Given the description of an element on the screen output the (x, y) to click on. 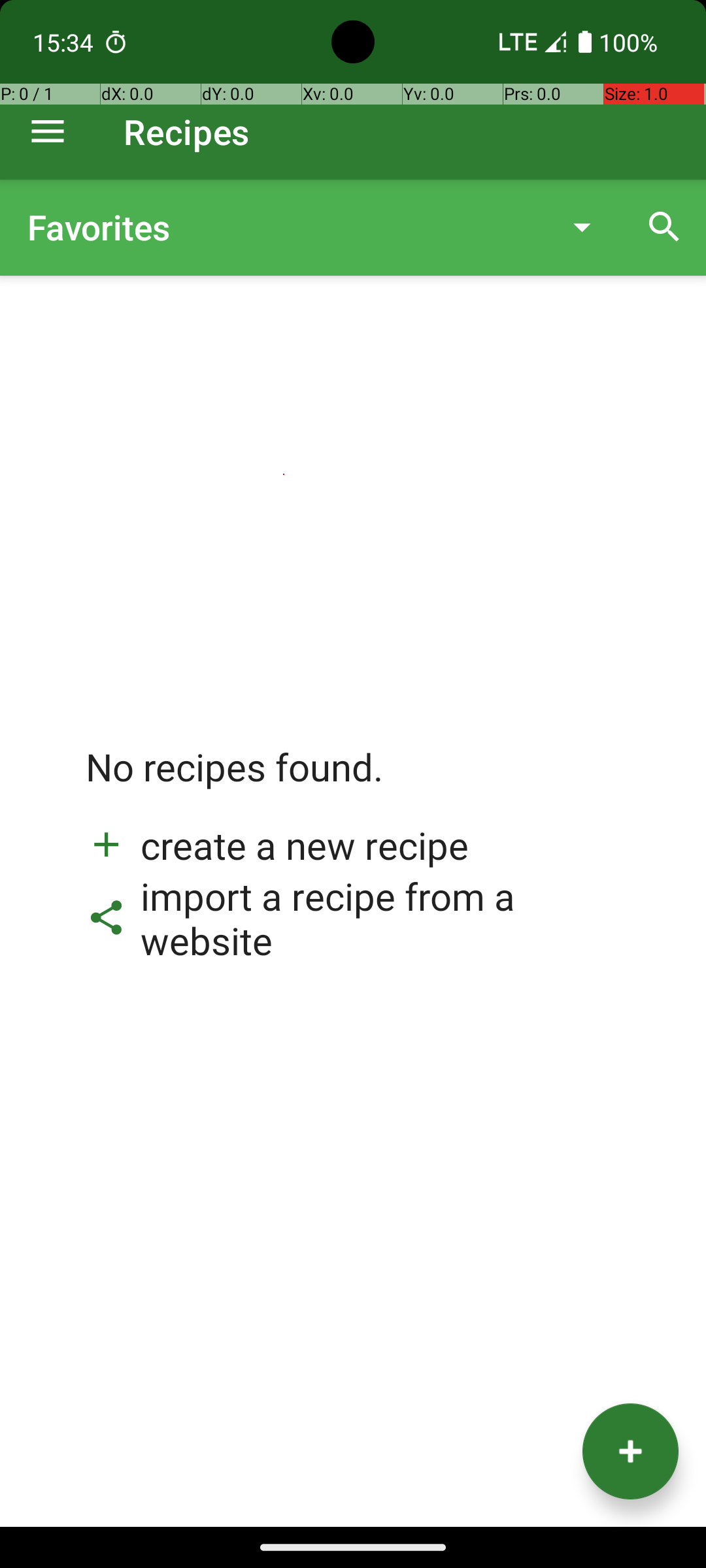
No recipes found. Element type: android.widget.TextView (234, 779)
create a new recipe Element type: android.widget.TextView (276, 844)
import a recipe from a website Element type: android.widget.TextView (352, 917)
